Given the description of an element on the screen output the (x, y) to click on. 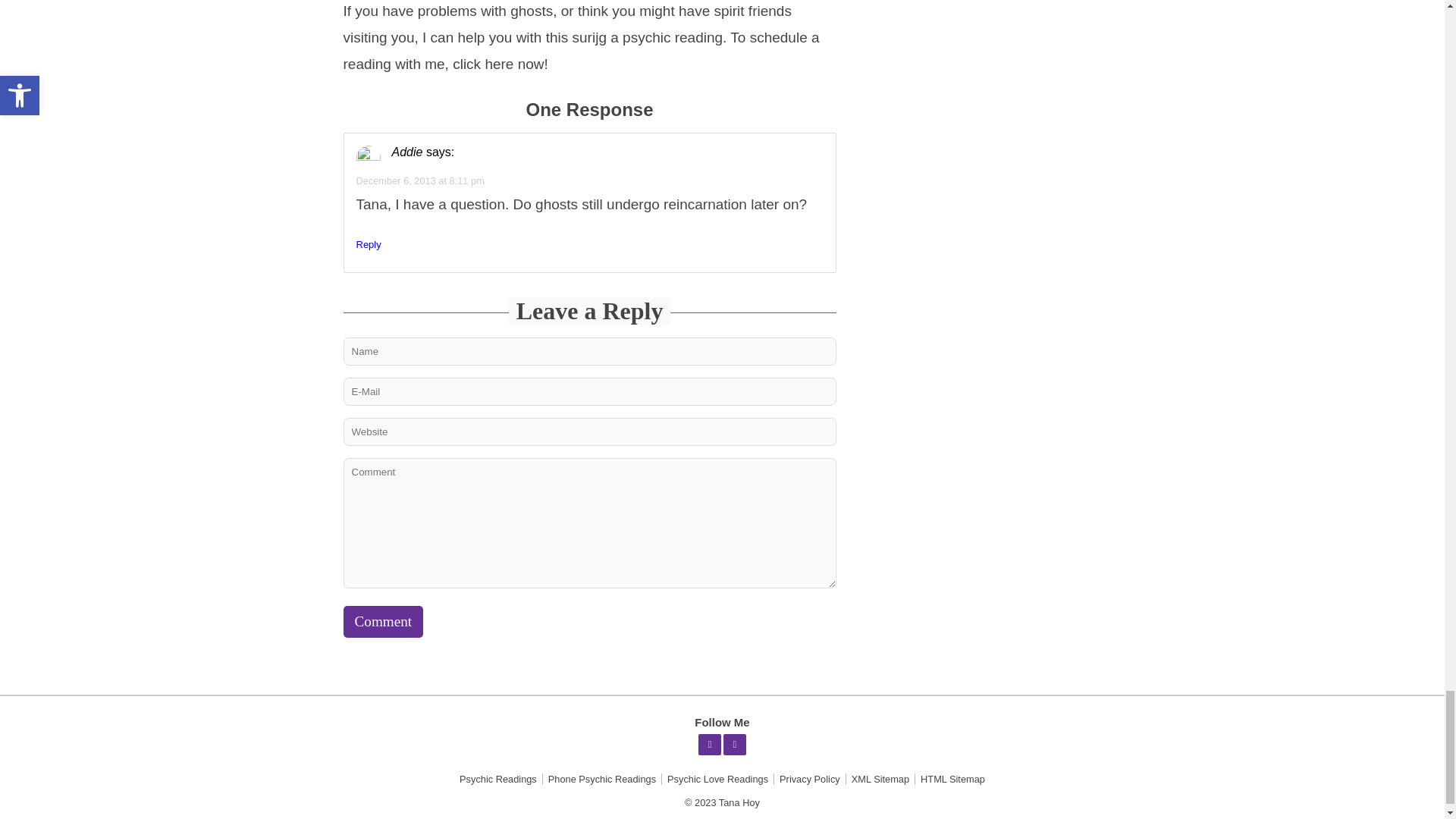
Reply (368, 244)
XML Sitemap (879, 778)
Comment (382, 622)
Privacy Policy (809, 778)
December 6, 2013 at 8:11 pm (420, 179)
Phone Psychic Readings (602, 778)
HTML Sitemap (952, 778)
Psychic Love Readings (717, 778)
Psychic Readings (497, 778)
Comment (382, 622)
